Given the description of an element on the screen output the (x, y) to click on. 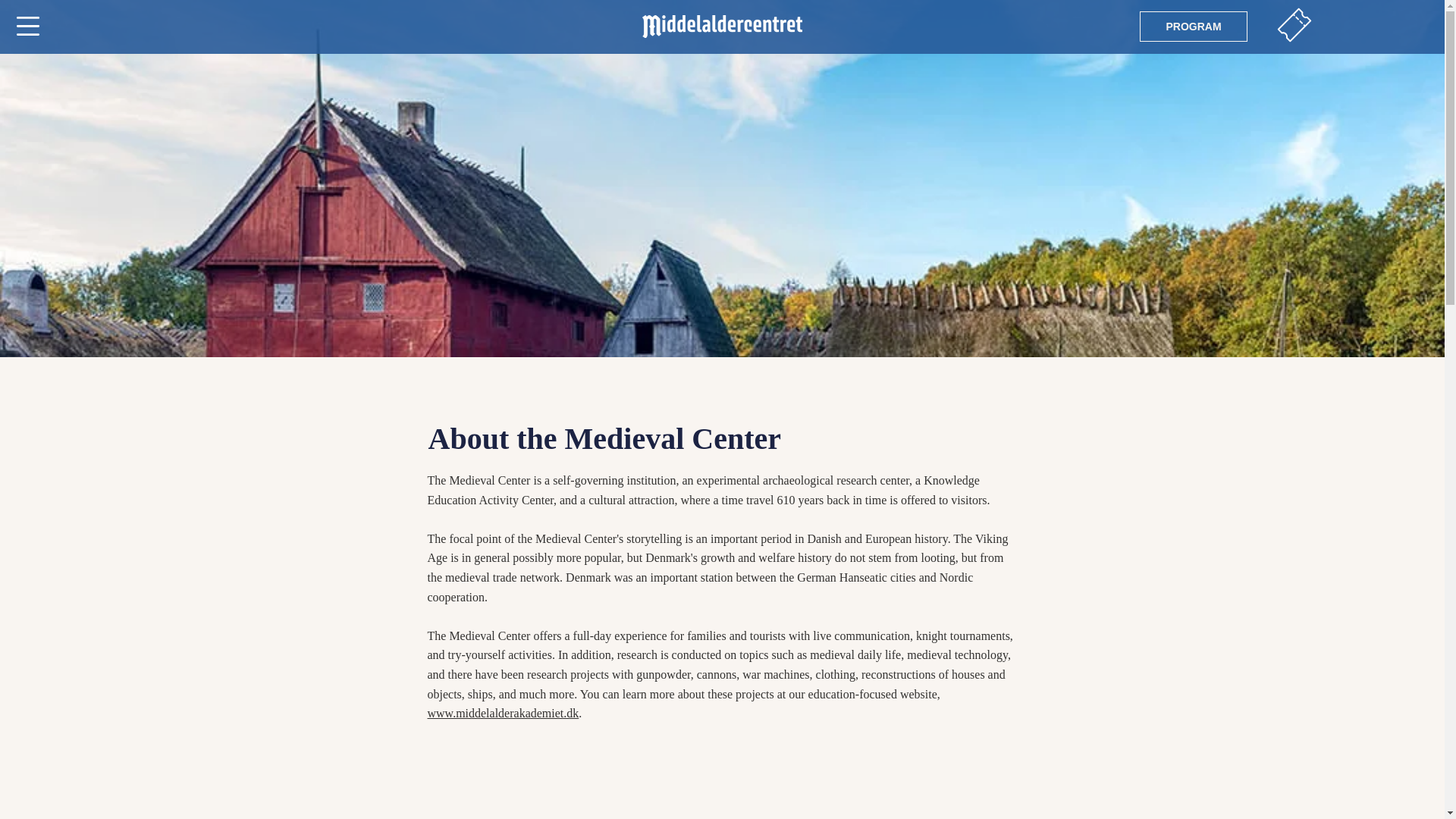
Middelaldercentret (722, 26)
PROGRAM (1193, 26)
www.middelalderakademiet.dk (503, 712)
